Given the description of an element on the screen output the (x, y) to click on. 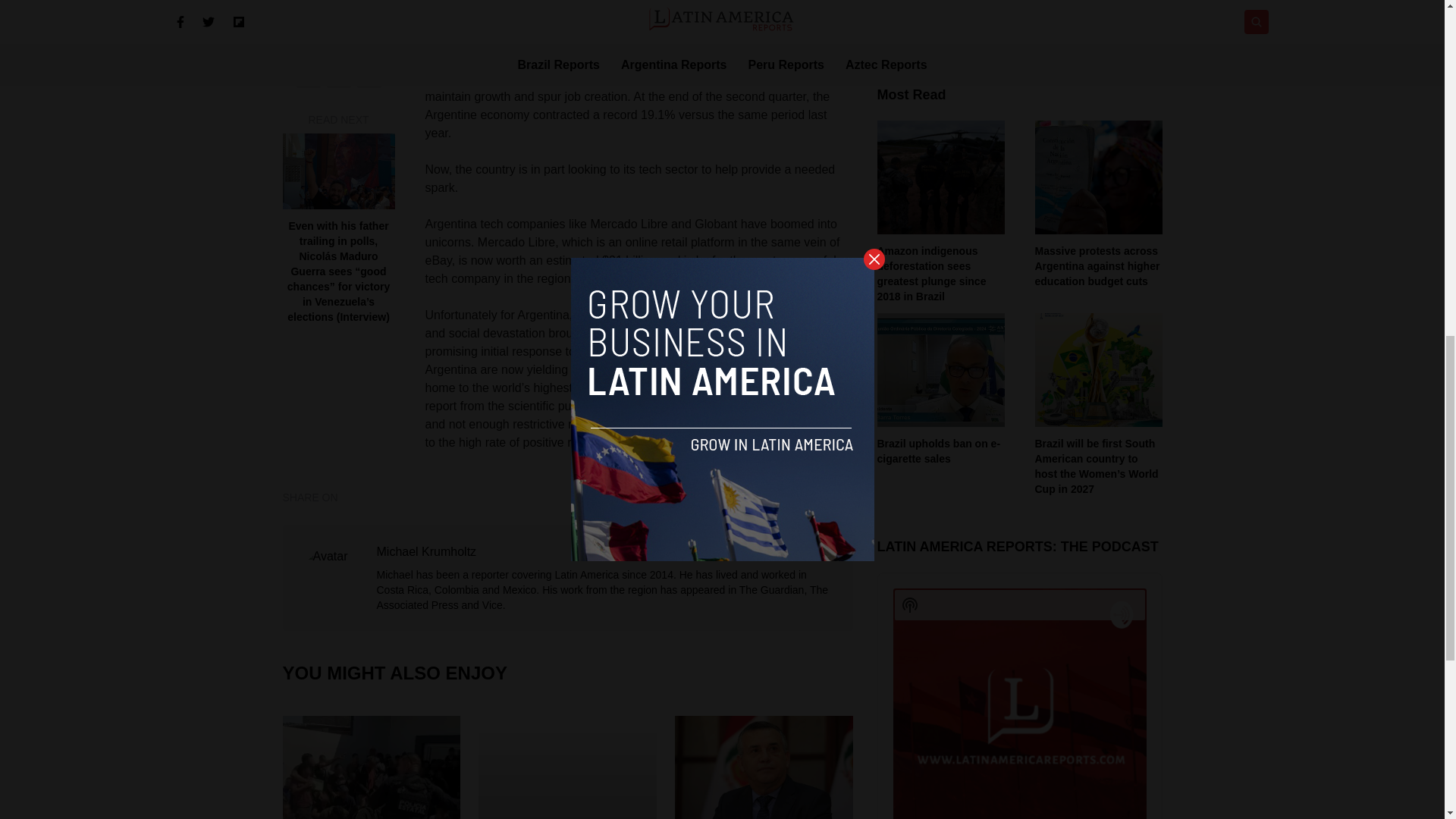
0 (1019, 549)
